Given the description of an element on the screen output the (x, y) to click on. 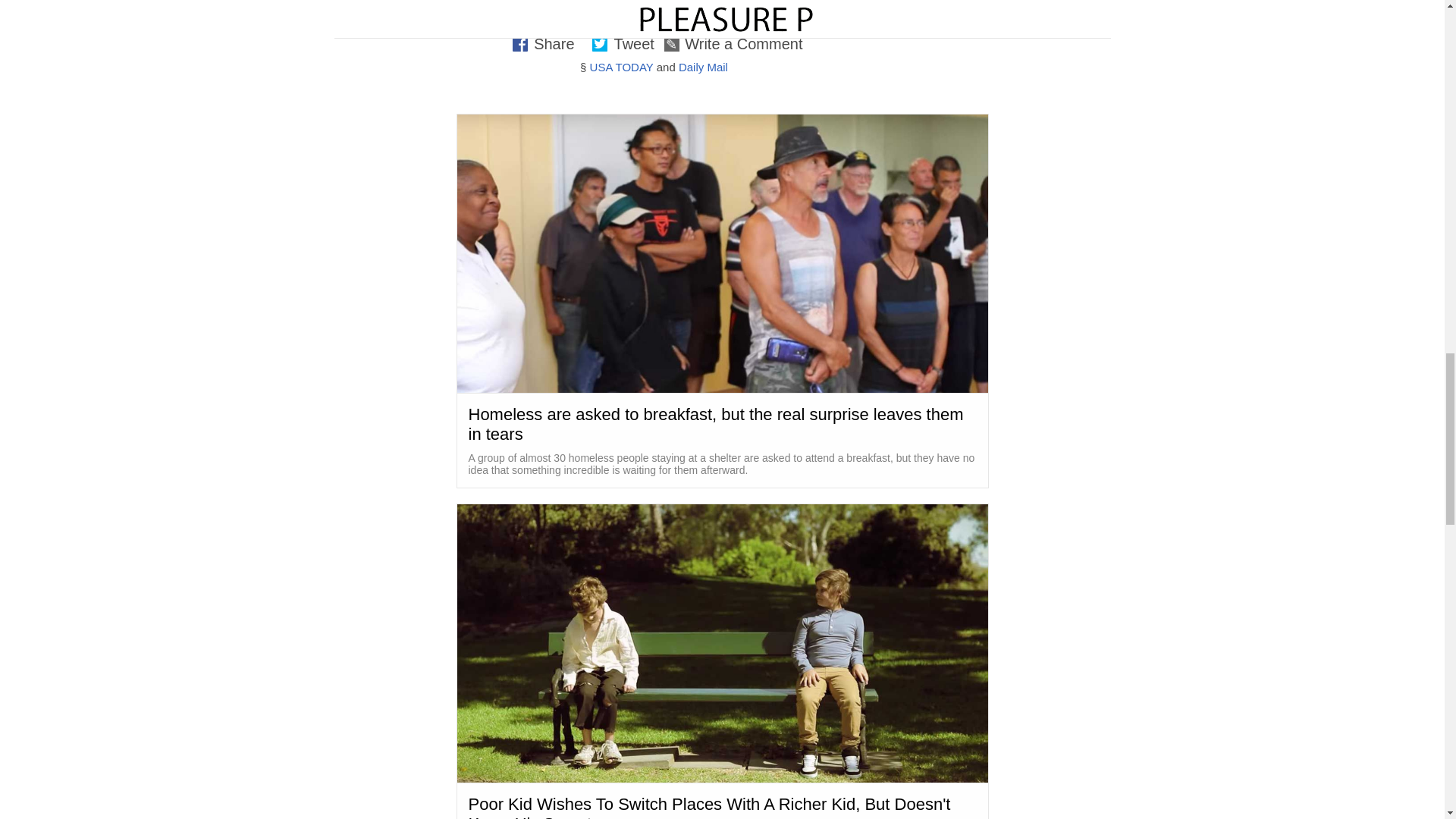
Daily Mail (703, 66)
USA TODAY (621, 66)
